Given the description of an element on the screen output the (x, y) to click on. 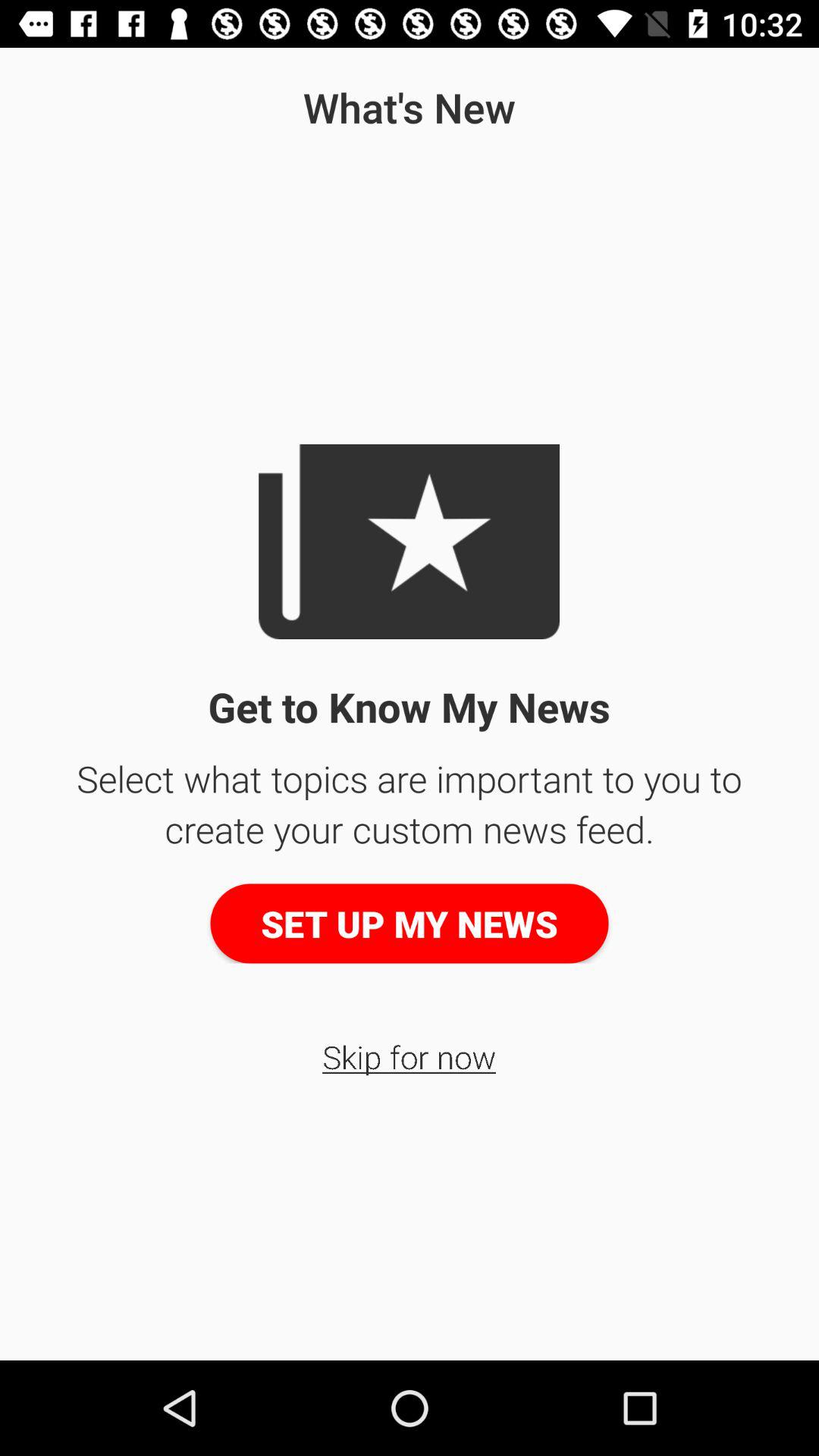
choose the skip for now app (408, 1056)
